Given the description of an element on the screen output the (x, y) to click on. 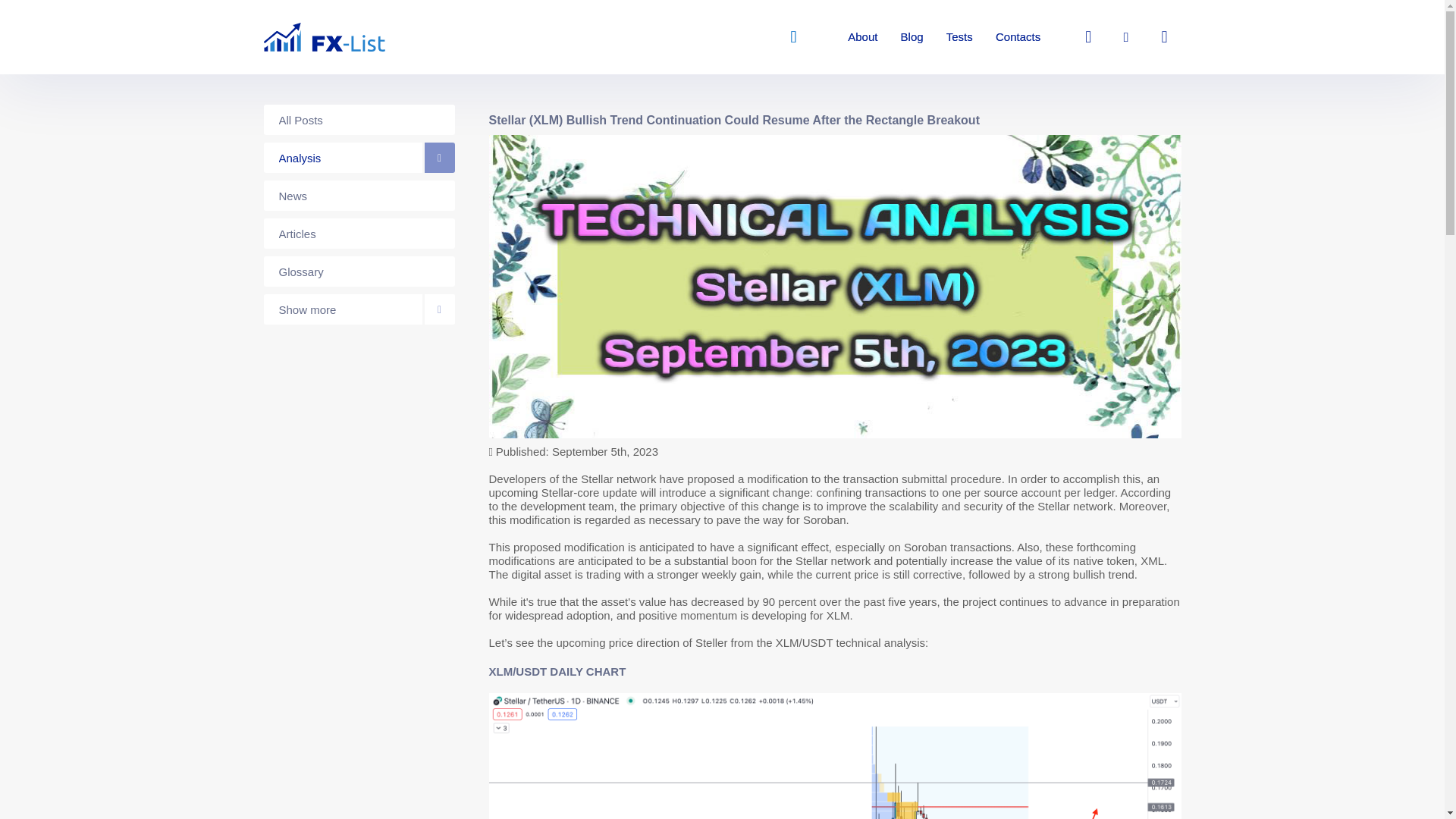
Articles (358, 233)
About (862, 36)
Blog (912, 36)
News (358, 195)
Tests (959, 36)
Contacts (1018, 36)
All Posts (358, 119)
Glossary (358, 271)
Analysis (358, 157)
